Given the description of an element on the screen output the (x, y) to click on. 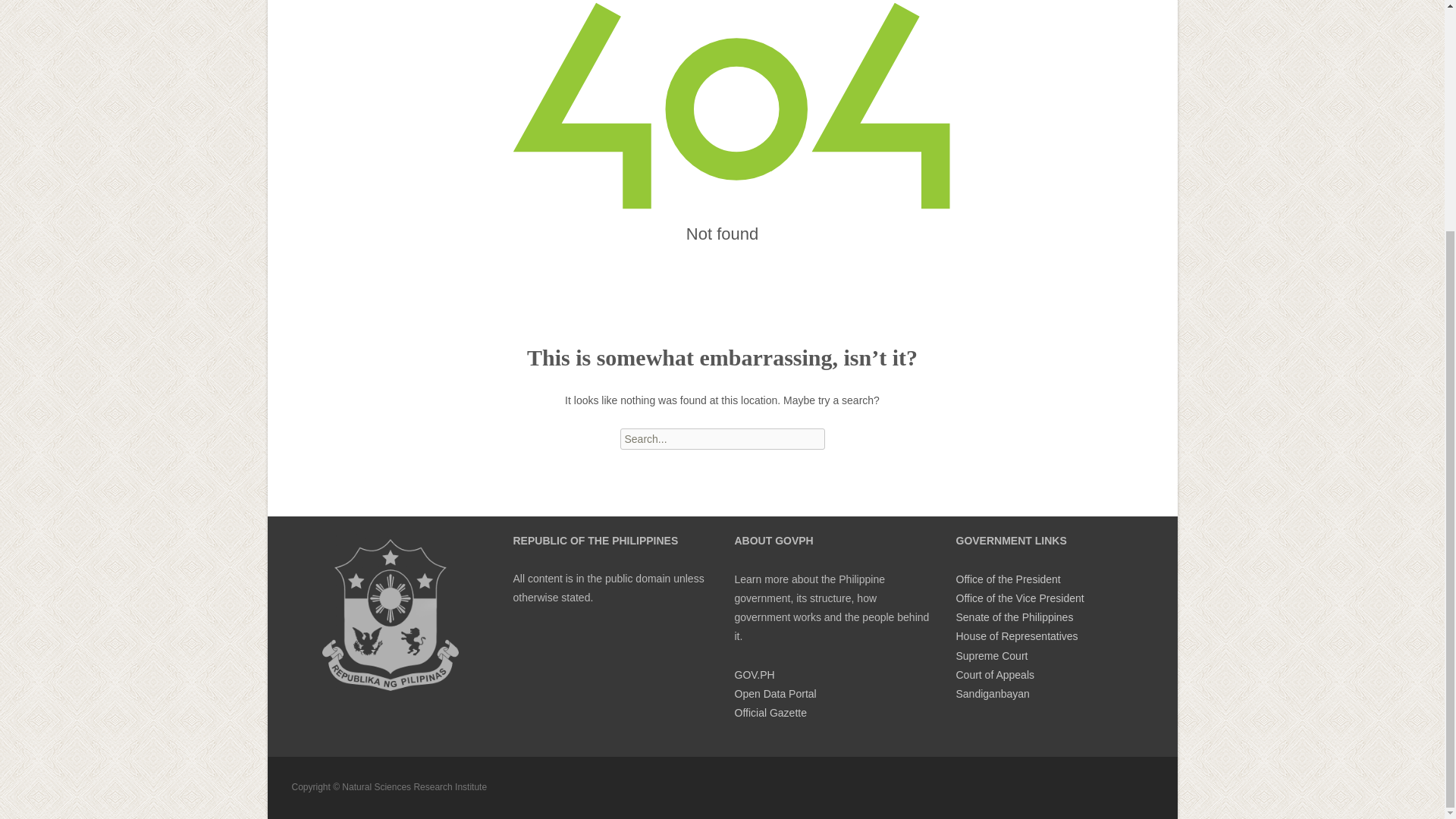
Court of Appeals (994, 674)
Office of the Vice President (1019, 598)
GOV.PH (753, 674)
House of Representatives (1016, 635)
Office of the President (1007, 579)
Sandiganbayan (992, 693)
Official Gazette (769, 712)
Search for: (722, 438)
Open Data Portal (774, 693)
Senate of the Philippines (1014, 616)
